Given the description of an element on the screen output the (x, y) to click on. 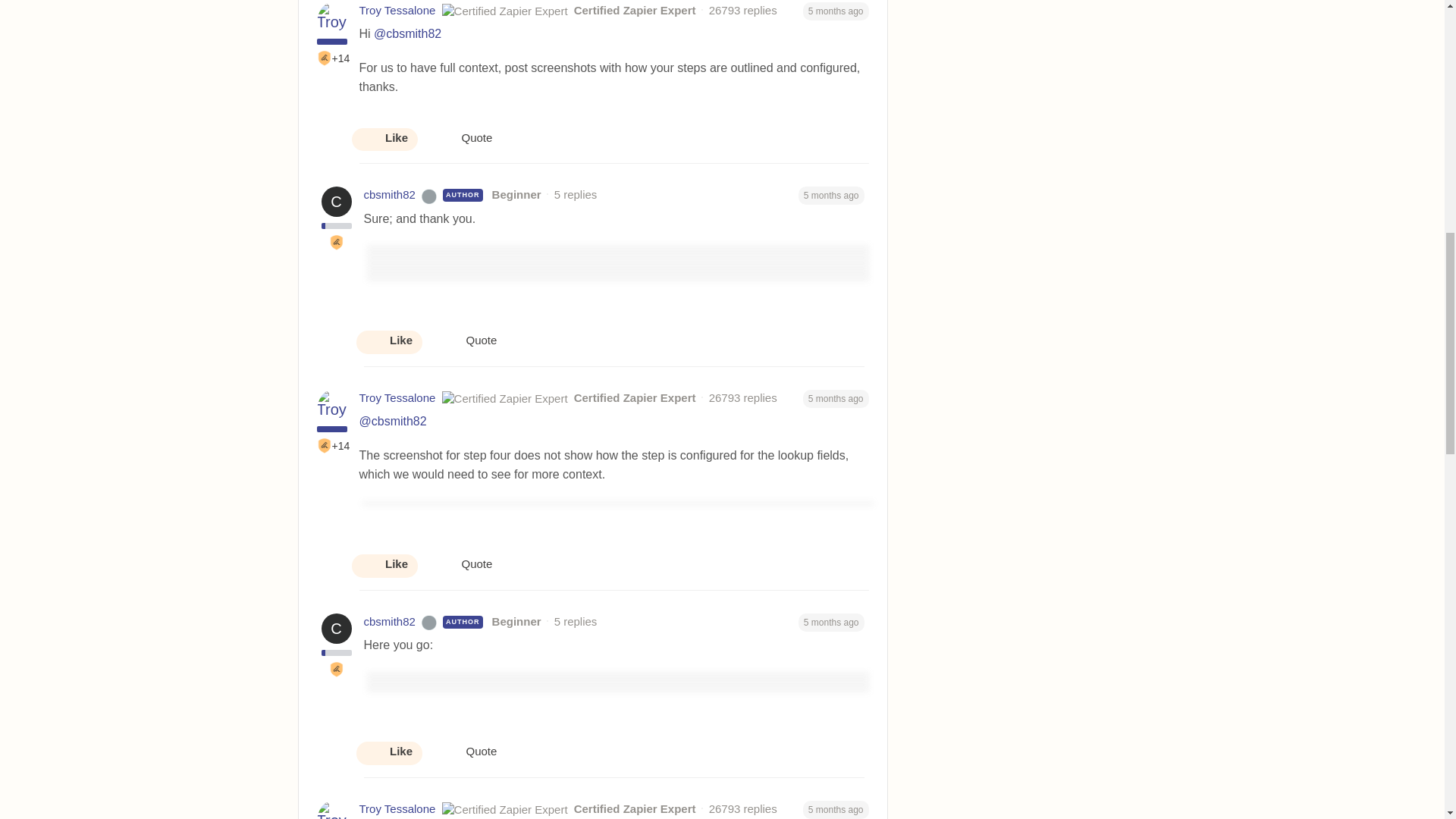
Troy Tessalone (397, 398)
Troy Tessalone (397, 809)
cbsmith82 (389, 194)
Troy Tessalone (397, 10)
First Best Answer (324, 58)
First Best Answer (324, 445)
cbsmith82 (389, 621)
First Best Answer (336, 669)
First Best Answer (336, 242)
